Given the description of an element on the screen output the (x, y) to click on. 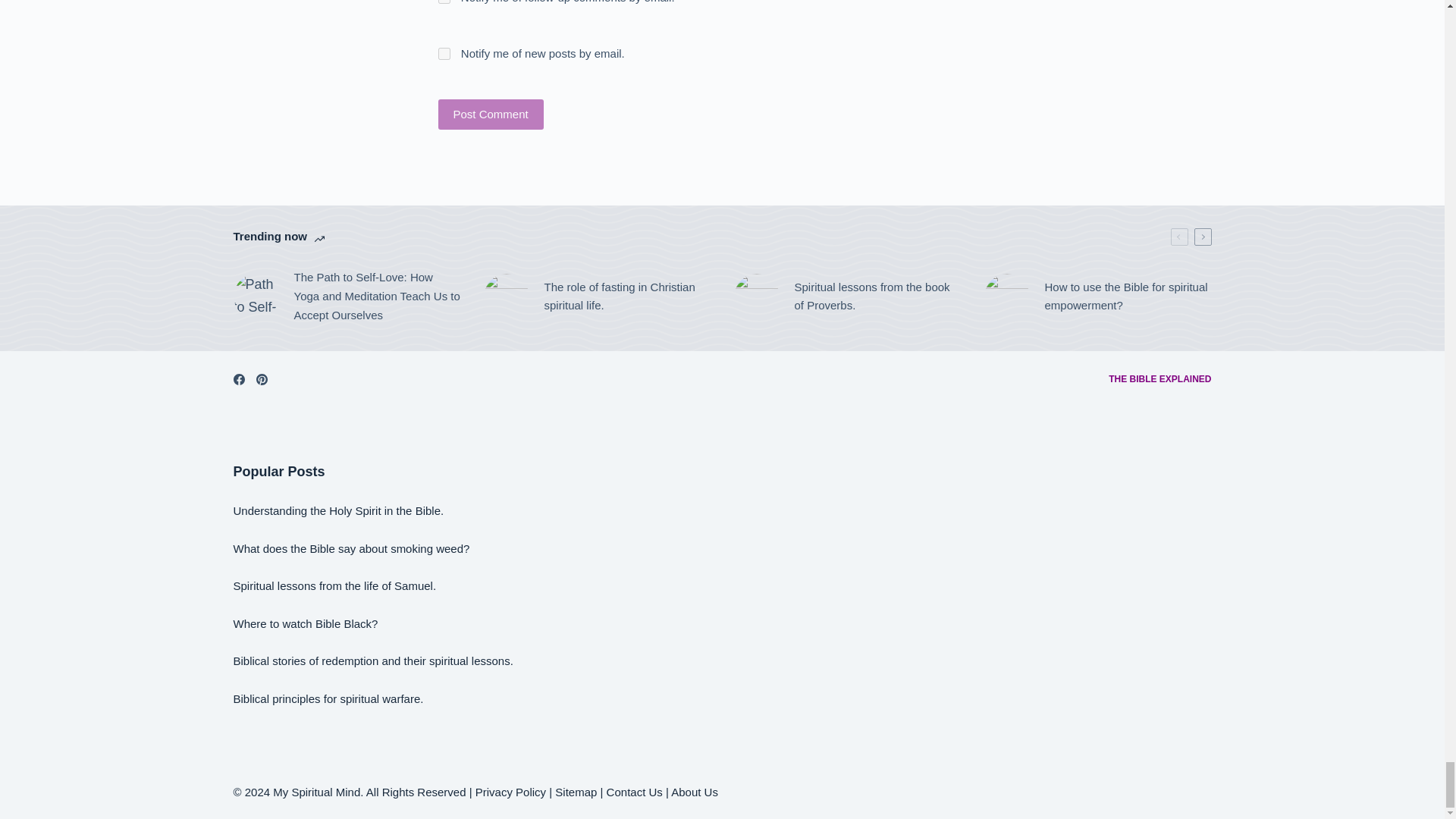
subscribe (443, 2)
subscribe (443, 53)
